Given the description of an element on the screen output the (x, y) to click on. 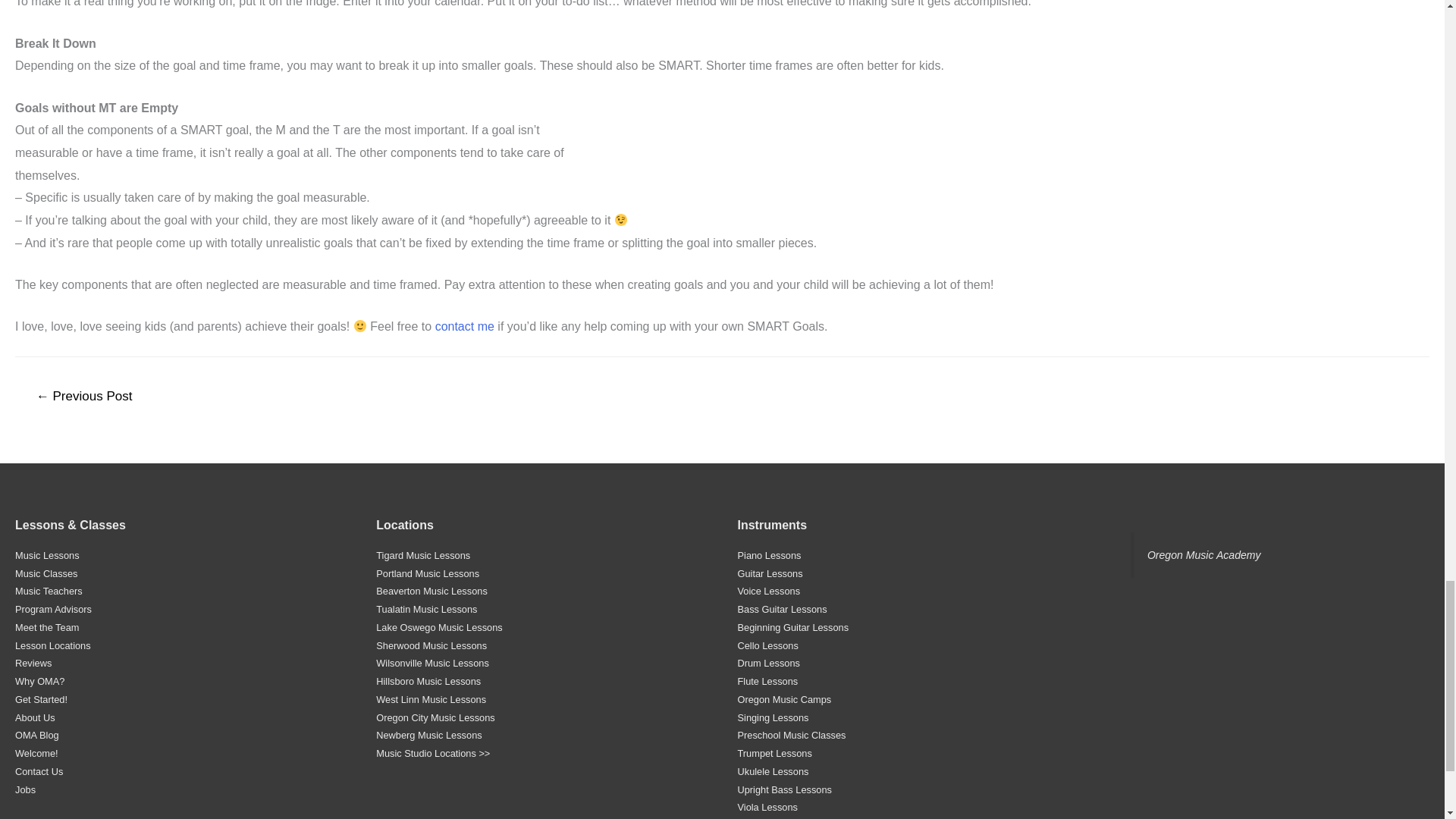
Sherwood Music Lessons (430, 645)
Music Lessons (47, 555)
About Us (34, 717)
contact me (465, 326)
Beginning Music Classes (46, 573)
Tualatin Music Lessons (426, 609)
Get Started! (40, 699)
Why OMA? (39, 681)
OMA Blog (36, 735)
Music Classes (46, 573)
